Given the description of an element on the screen output the (x, y) to click on. 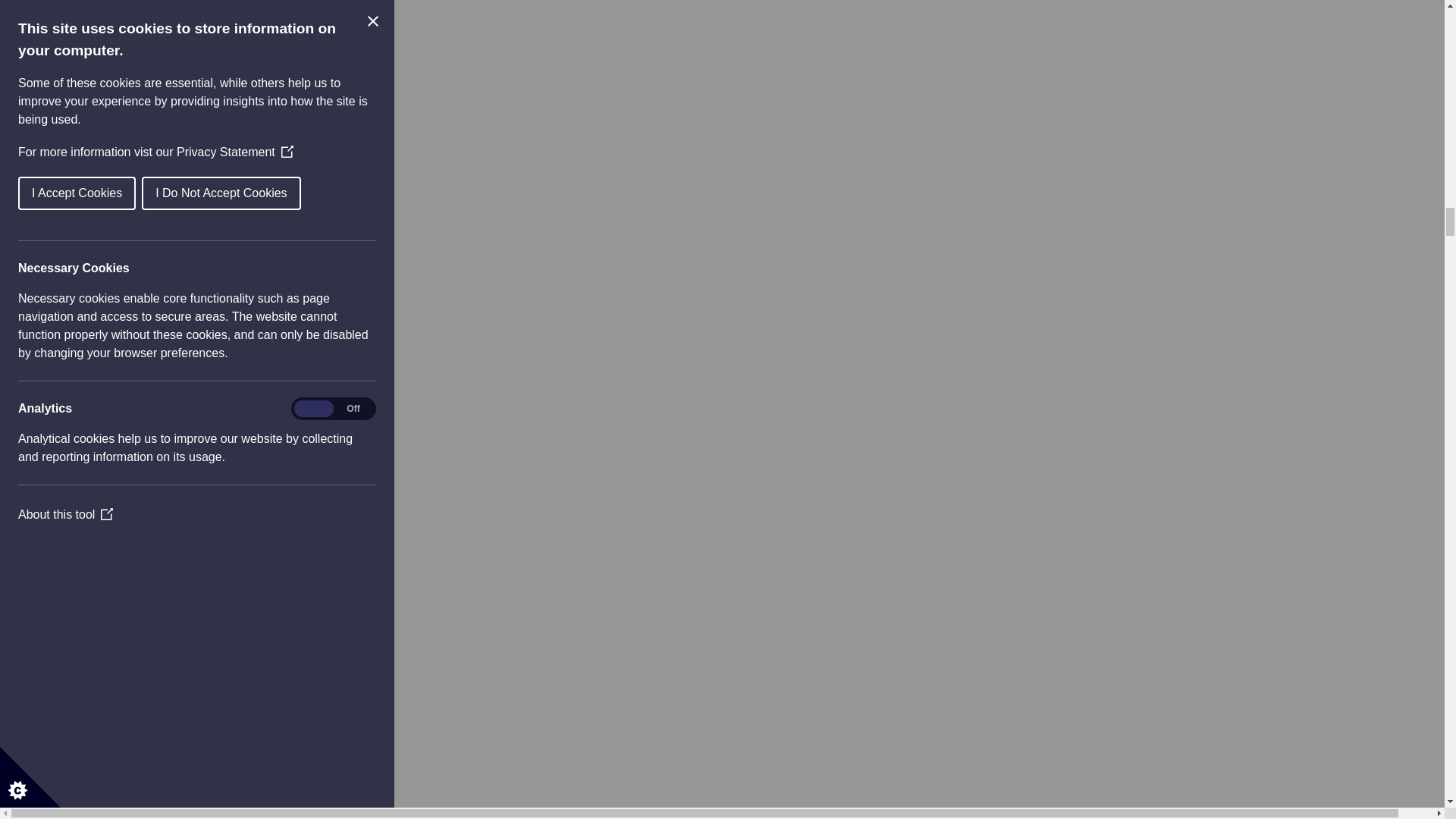
01 (92, 87)
01 (92, 688)
